Given the description of an element on the screen output the (x, y) to click on. 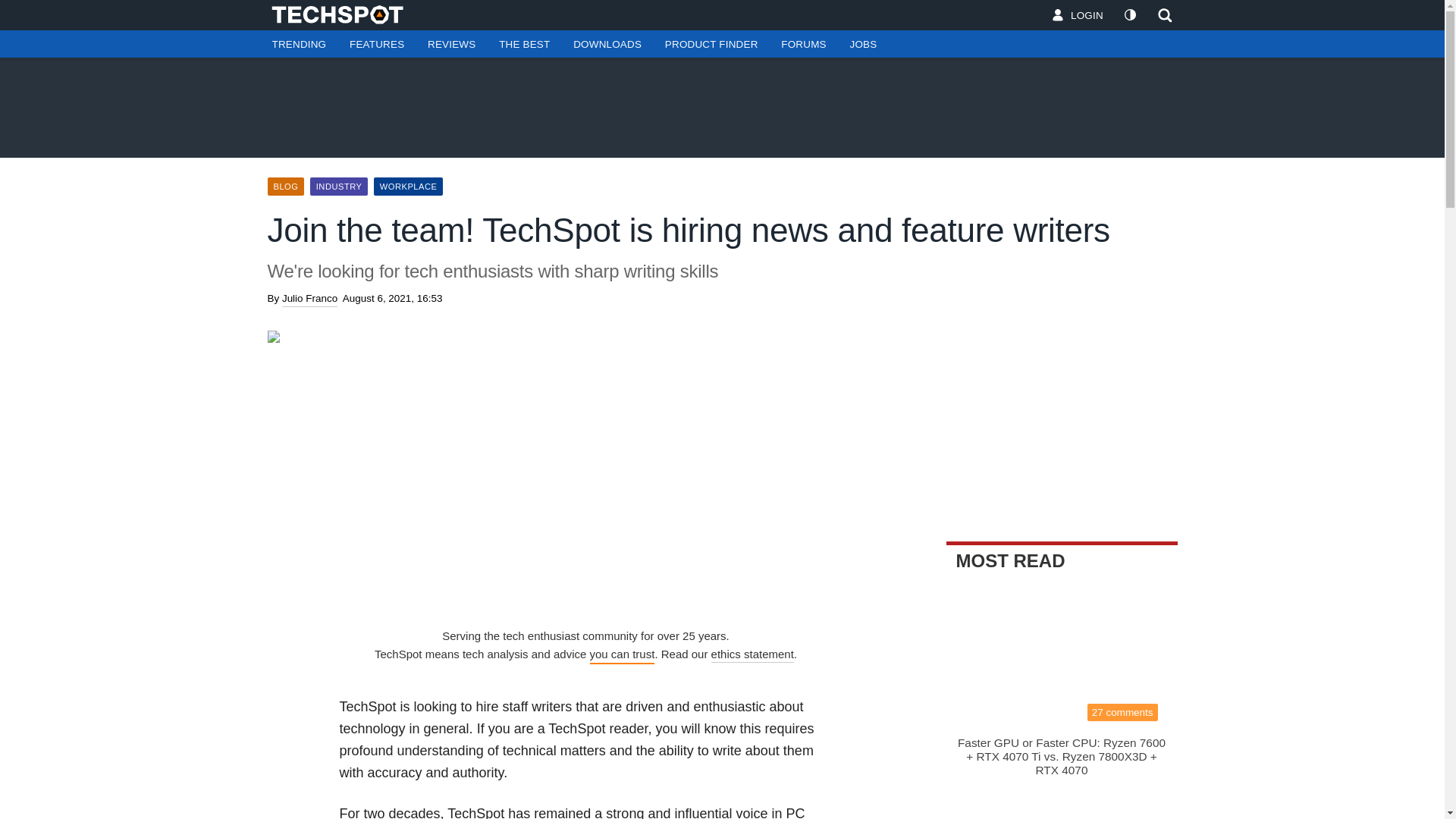
LOGIN (1077, 15)
TechSpot logoThe word TechSpot (344, 14)
DOWNLOADS (606, 44)
SearchA search icon (1160, 15)
SearchA search icon (1164, 15)
PRODUCT FINDER (711, 44)
TechSpot logoThe word TechSpot (344, 14)
FORUMS (803, 44)
THE BEST (524, 44)
REVIEWS (450, 44)
